Given the description of an element on the screen output the (x, y) to click on. 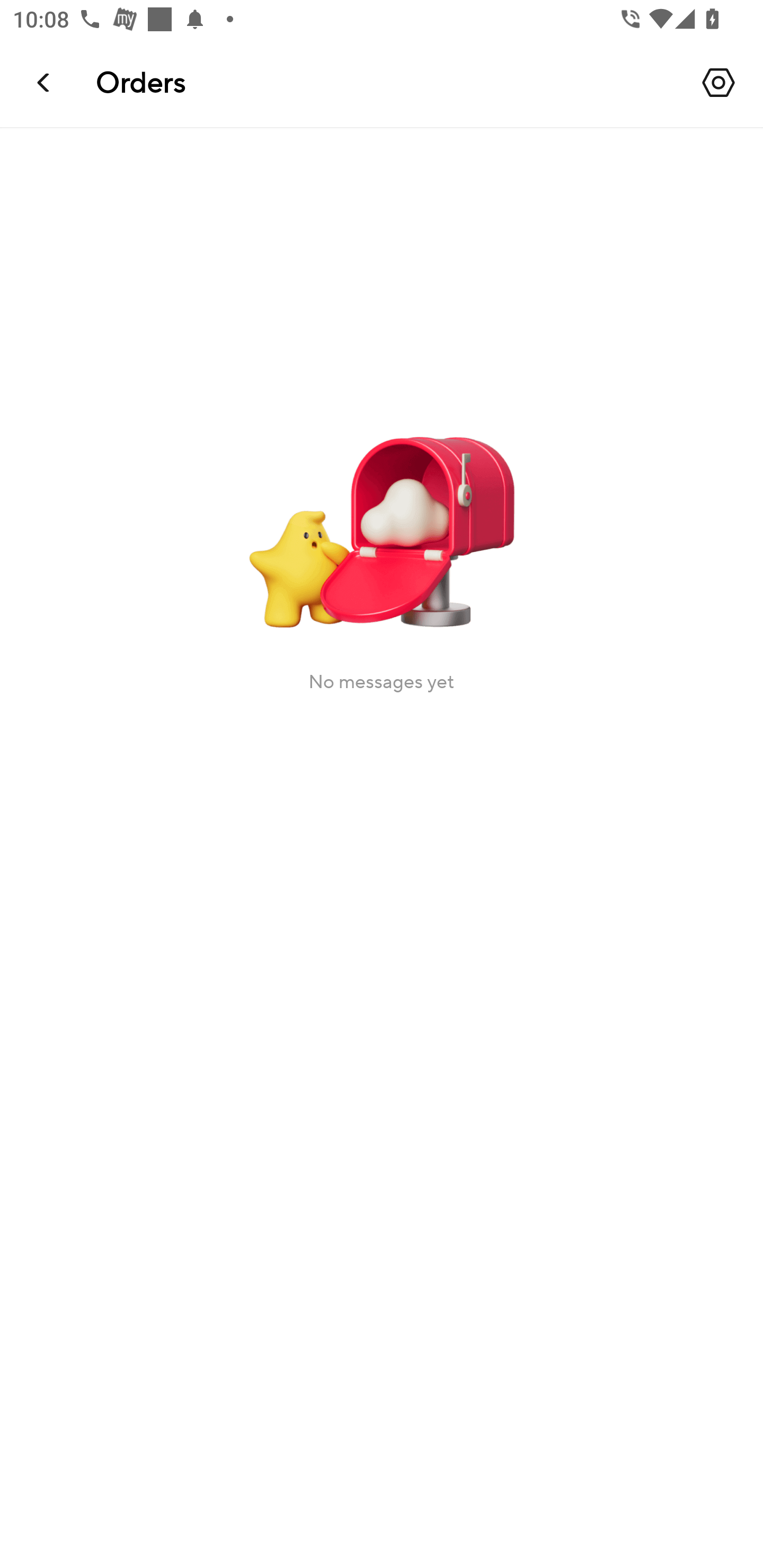
Navigate up (44, 82)
